Given the description of an element on the screen output the (x, y) to click on. 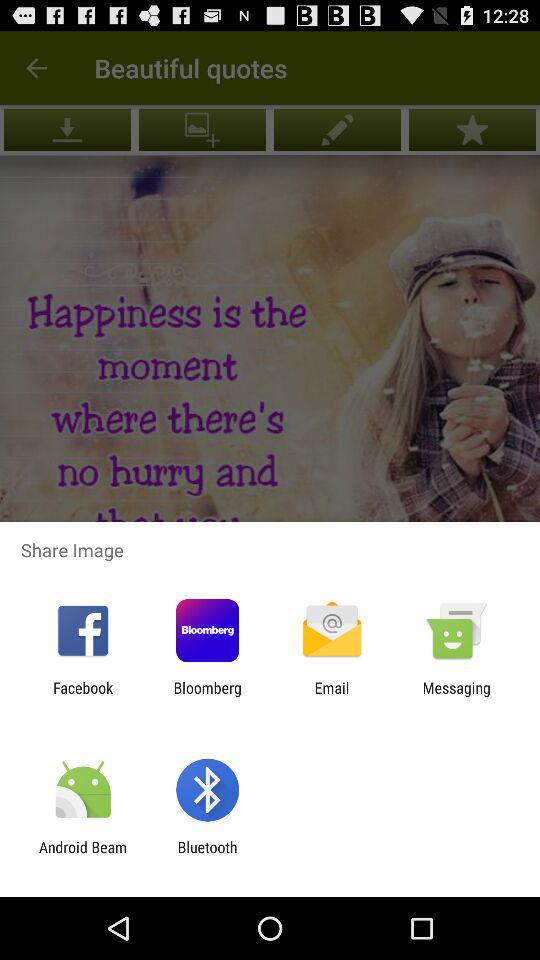
select item next to facebook (207, 696)
